Given the description of an element on the screen output the (x, y) to click on. 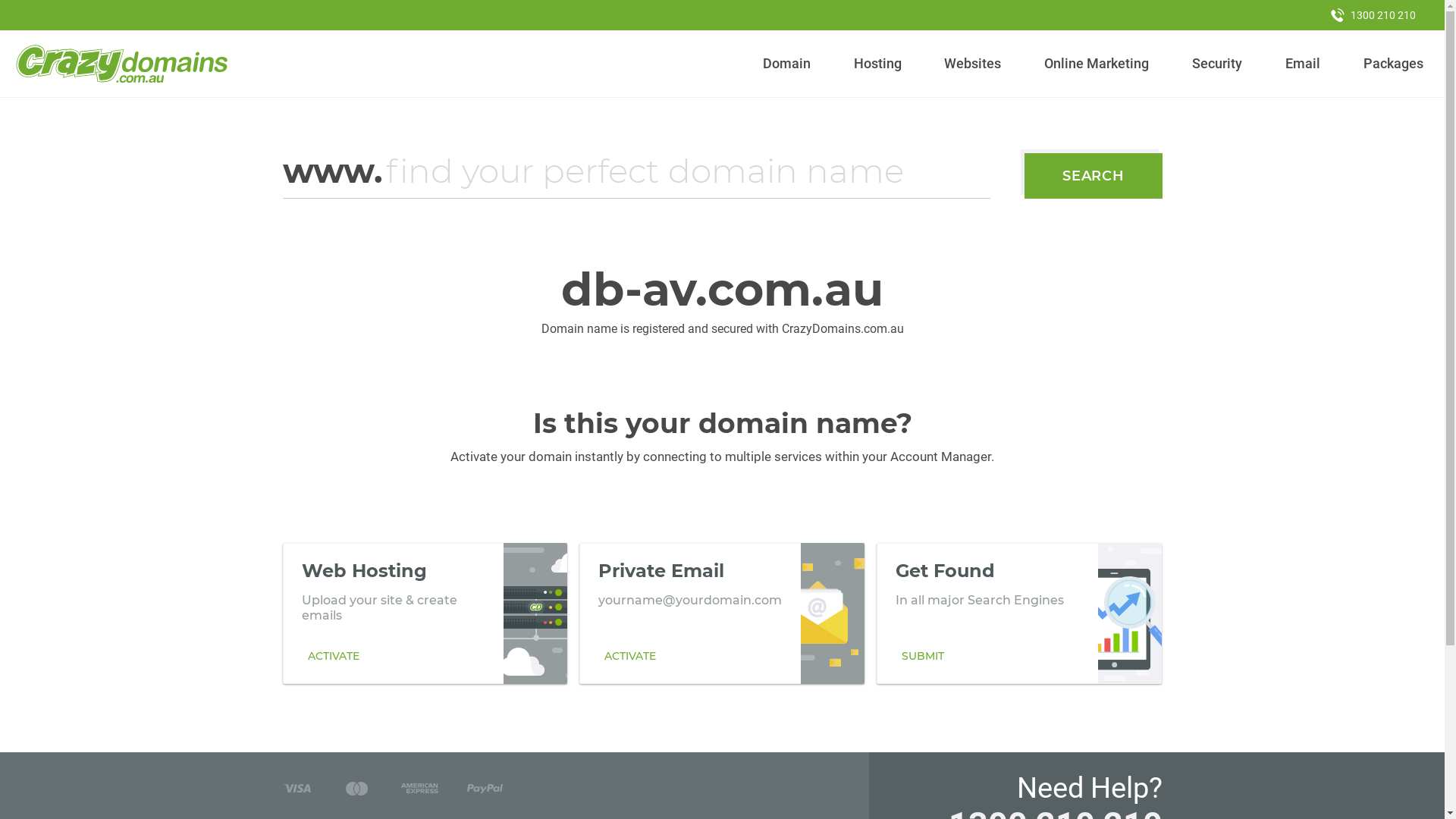
Security Element type: text (1217, 63)
Online Marketing Element type: text (1096, 63)
Websites Element type: text (972, 63)
Email Element type: text (1302, 63)
Web Hosting
Upload your site & create emails
ACTIVATE Element type: text (424, 613)
Private Email
yourname@yourdomain.com
ACTIVATE Element type: text (721, 613)
Domain Element type: text (786, 63)
SEARCH Element type: text (1092, 175)
Hosting Element type: text (877, 63)
Packages Element type: text (1392, 63)
1300 210 210 Element type: text (1373, 15)
Get Found
In all major Search Engines
SUBMIT Element type: text (1018, 613)
